Given the description of an element on the screen output the (x, y) to click on. 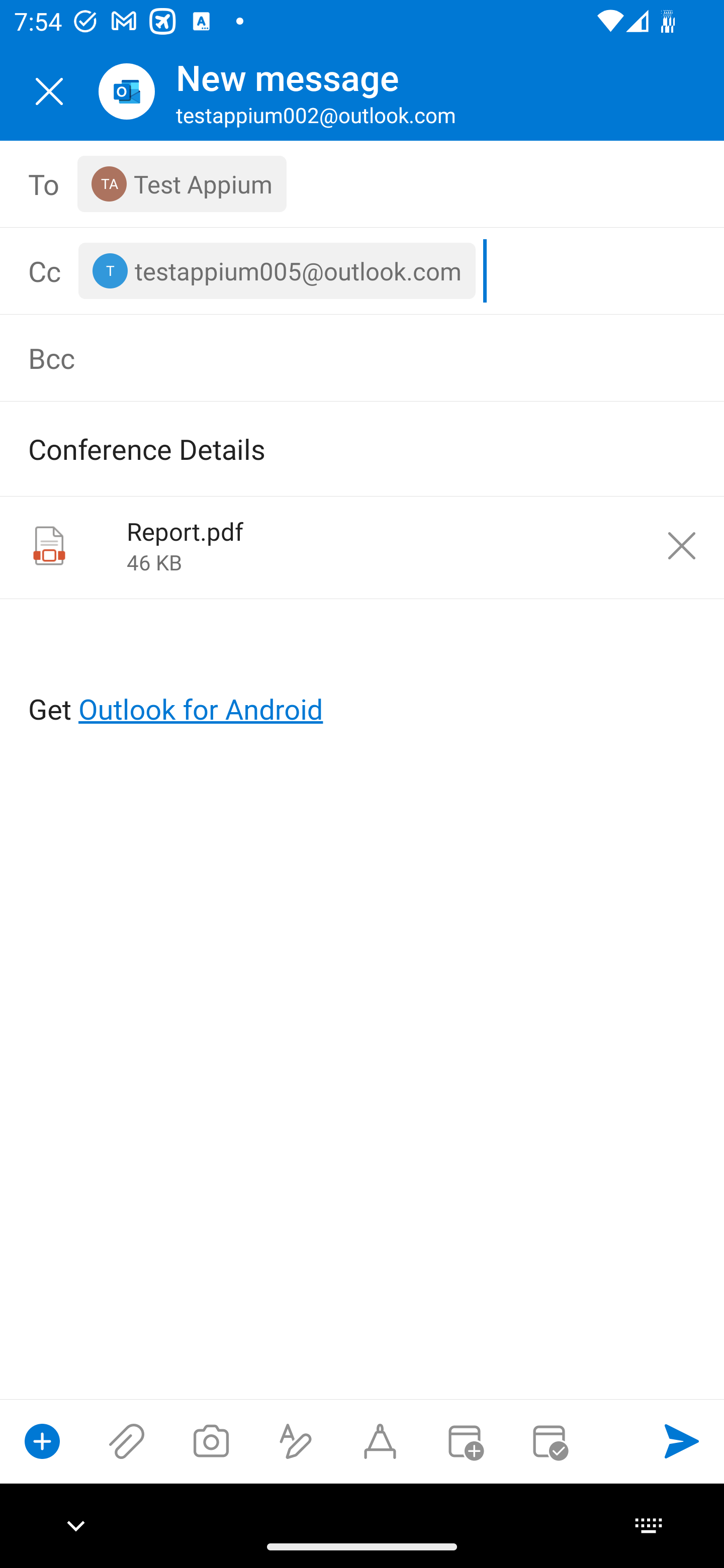
Close (49, 91)
Conference Details (333, 448)
Report.pdf 46 KB Remove attachment Report.pdf (362, 547)
Remove attachment Report.pdf (681, 545)


Get Outlook for Android (363, 676)
Show compose options (42, 1440)
Attach files (126, 1440)
Take a photo (210, 1440)
Show formatting options (295, 1440)
Start Ink compose (380, 1440)
Convert to event (464, 1440)
Send availability (548, 1440)
Send (681, 1440)
